Given the description of an element on the screen output the (x, y) to click on. 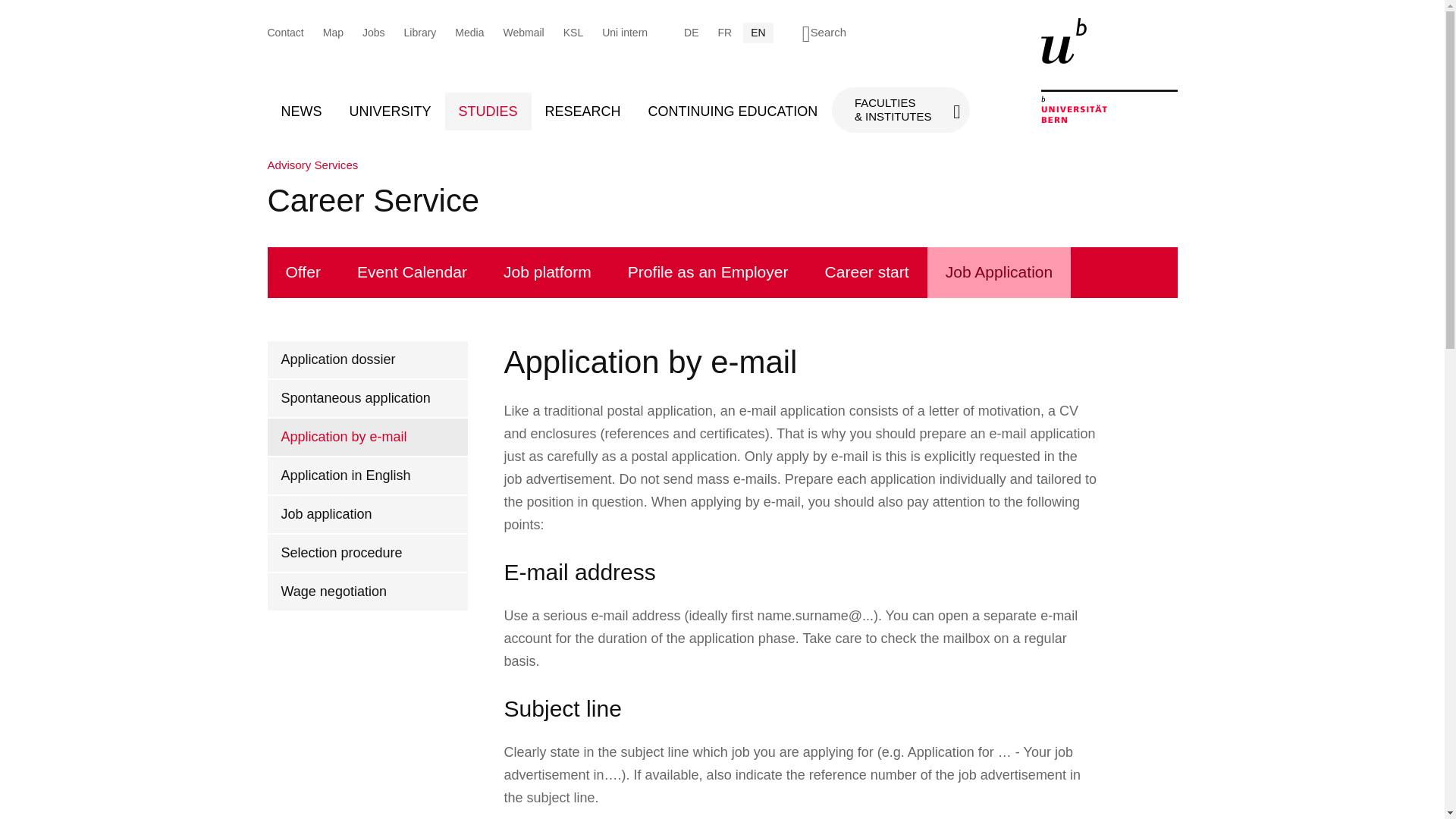
RESEARCH (582, 111)
NEWS (300, 111)
UNIVERSITY (389, 111)
CONTINUING EDUCATION (732, 111)
STUDIES (488, 111)
